Given the description of an element on the screen output the (x, y) to click on. 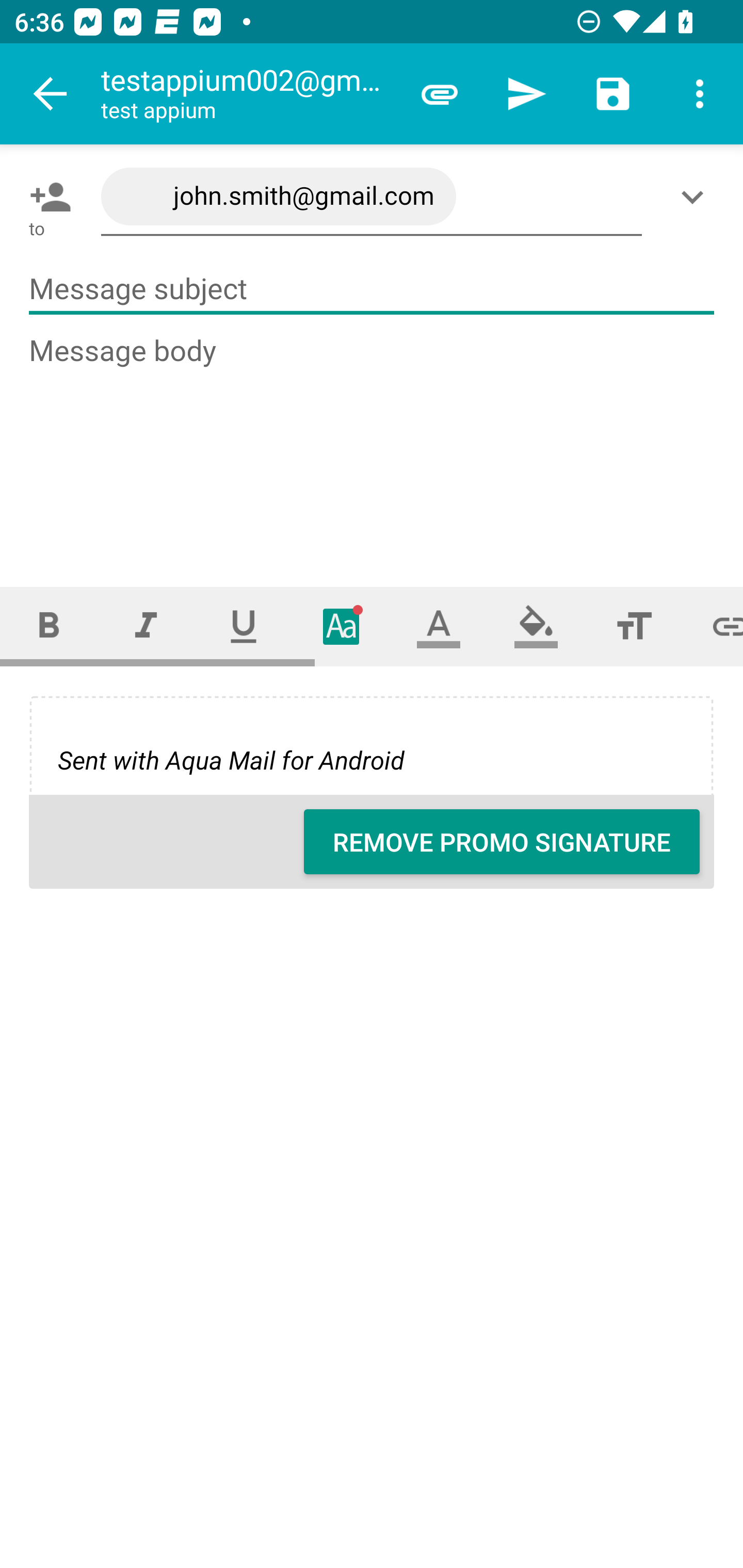
Navigate up (50, 93)
testappium002@gmail.com test appium (248, 93)
Attach (439, 93)
Send (525, 93)
Save (612, 93)
More options (699, 93)
john.smith@gmail.com,  (371, 197)
Pick contact: To (46, 196)
Show/Add CC/BCC (696, 196)
Message subject (371, 288)
Message body (372, 442)
Bold (48, 626)
Italic (145, 626)
Underline (243, 626)
Typeface (font) (341, 626)
Text color (438, 626)
Fill color (536, 626)
Font size (633, 626)
REMOVE PROMO SIGNATURE (501, 841)
